Given the description of an element on the screen output the (x, y) to click on. 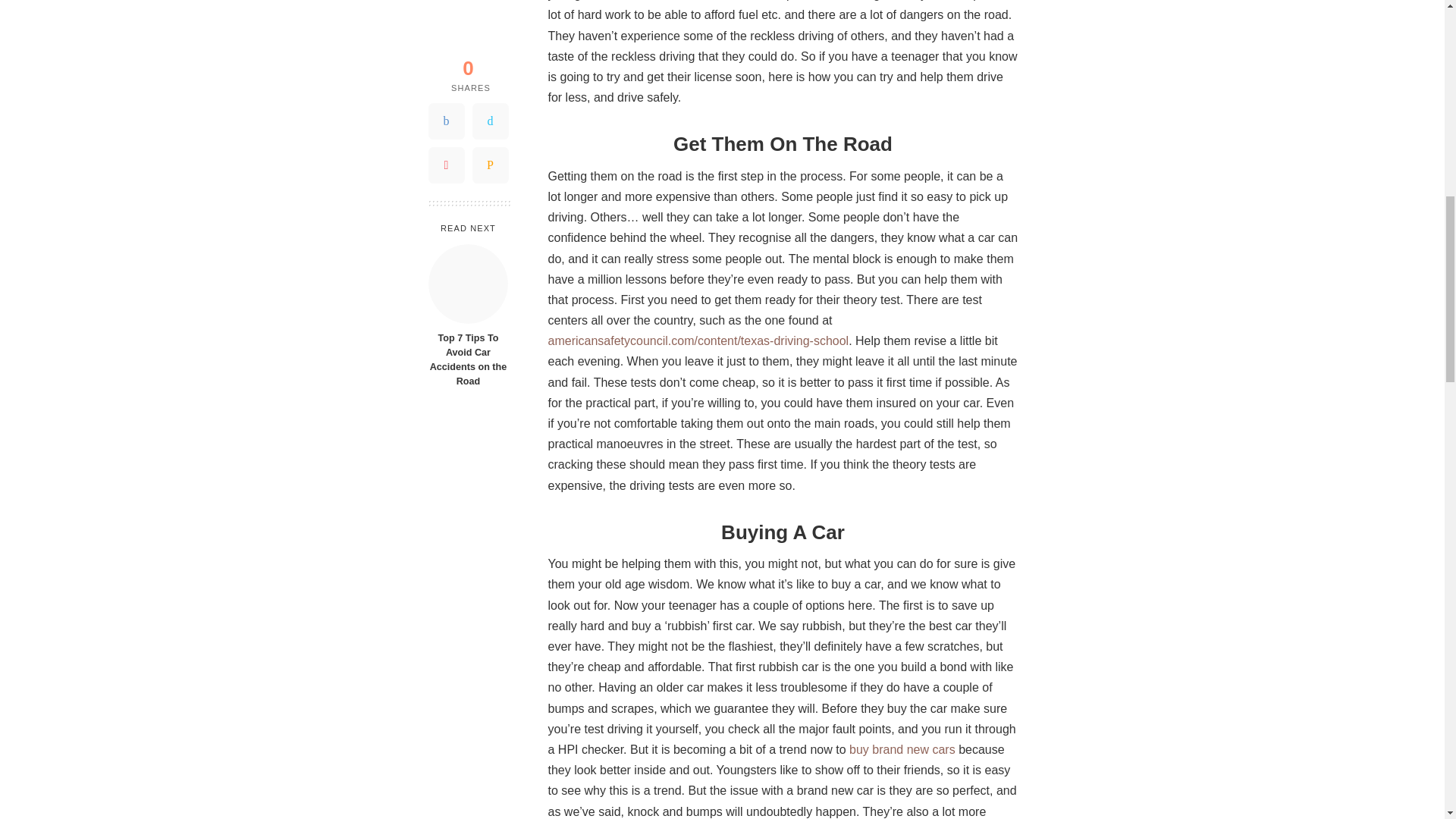
Top 7 Tips To Avoid Car Accidents on the Road (468, 128)
Email (489, 14)
Pinterest (446, 14)
